Given the description of an element on the screen output the (x, y) to click on. 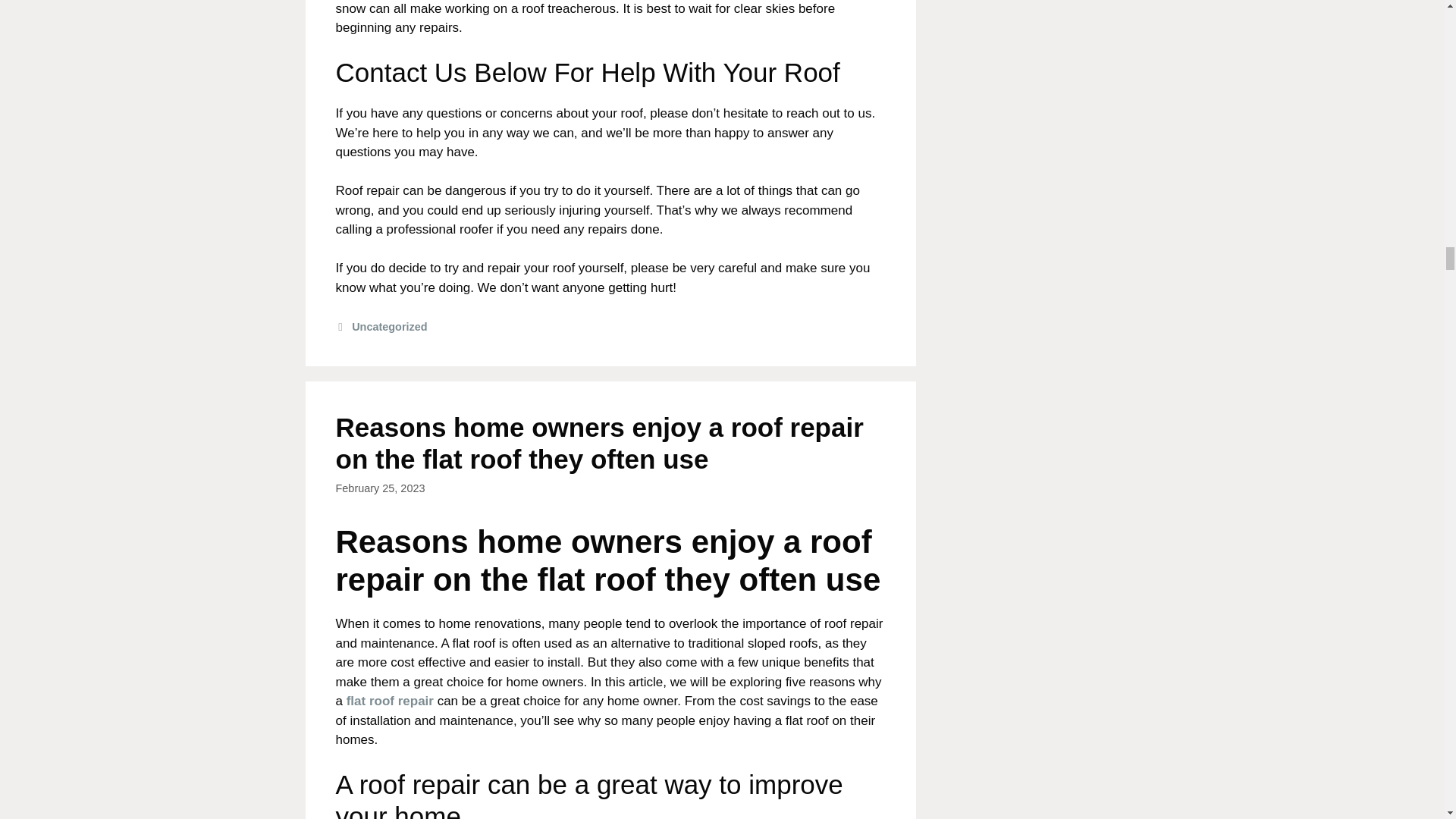
flat roof repair (389, 700)
Uncategorized (389, 326)
